Given the description of an element on the screen output the (x, y) to click on. 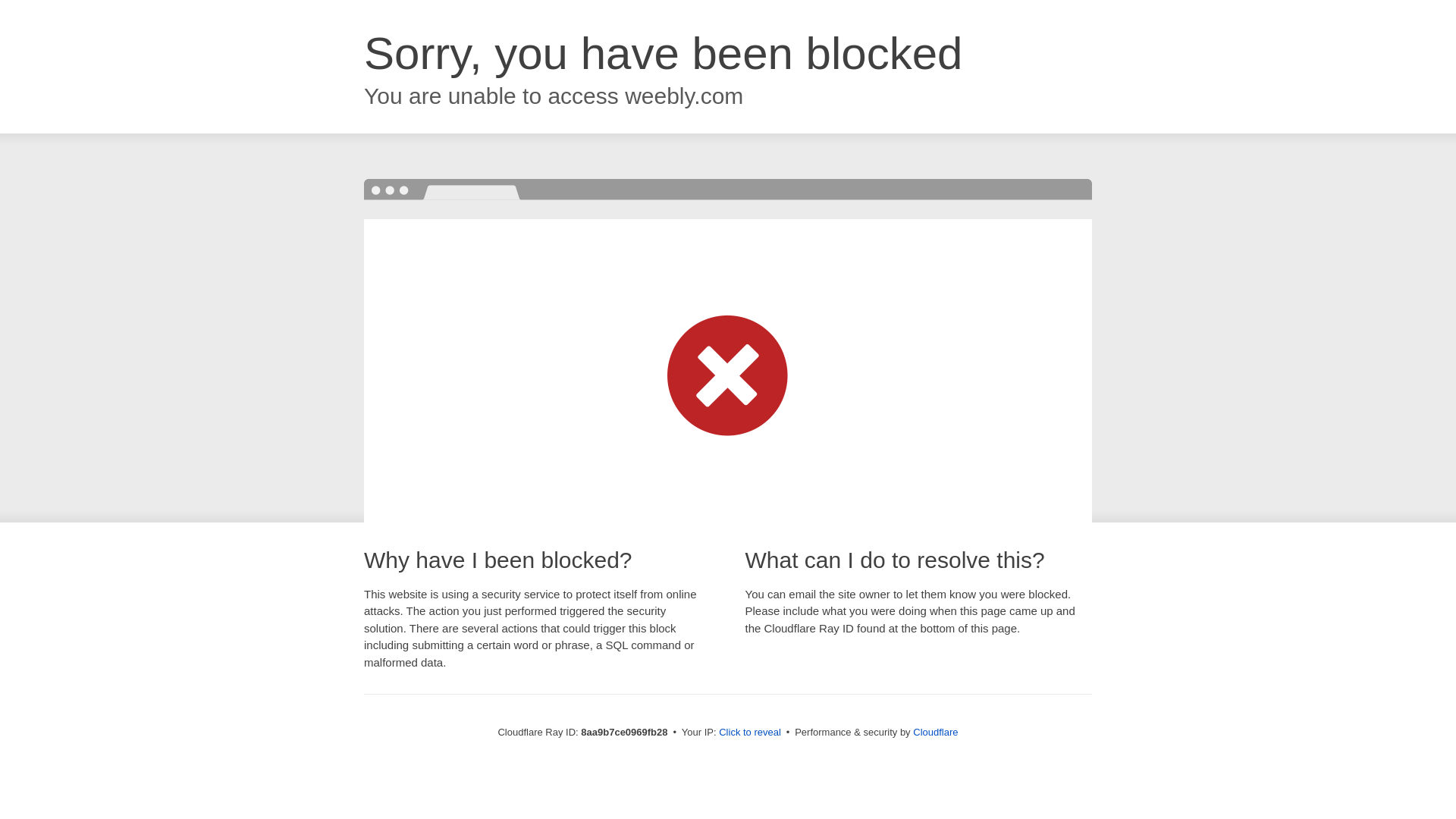
Cloudflare (935, 731)
Click to reveal (749, 732)
